Given the description of an element on the screen output the (x, y) to click on. 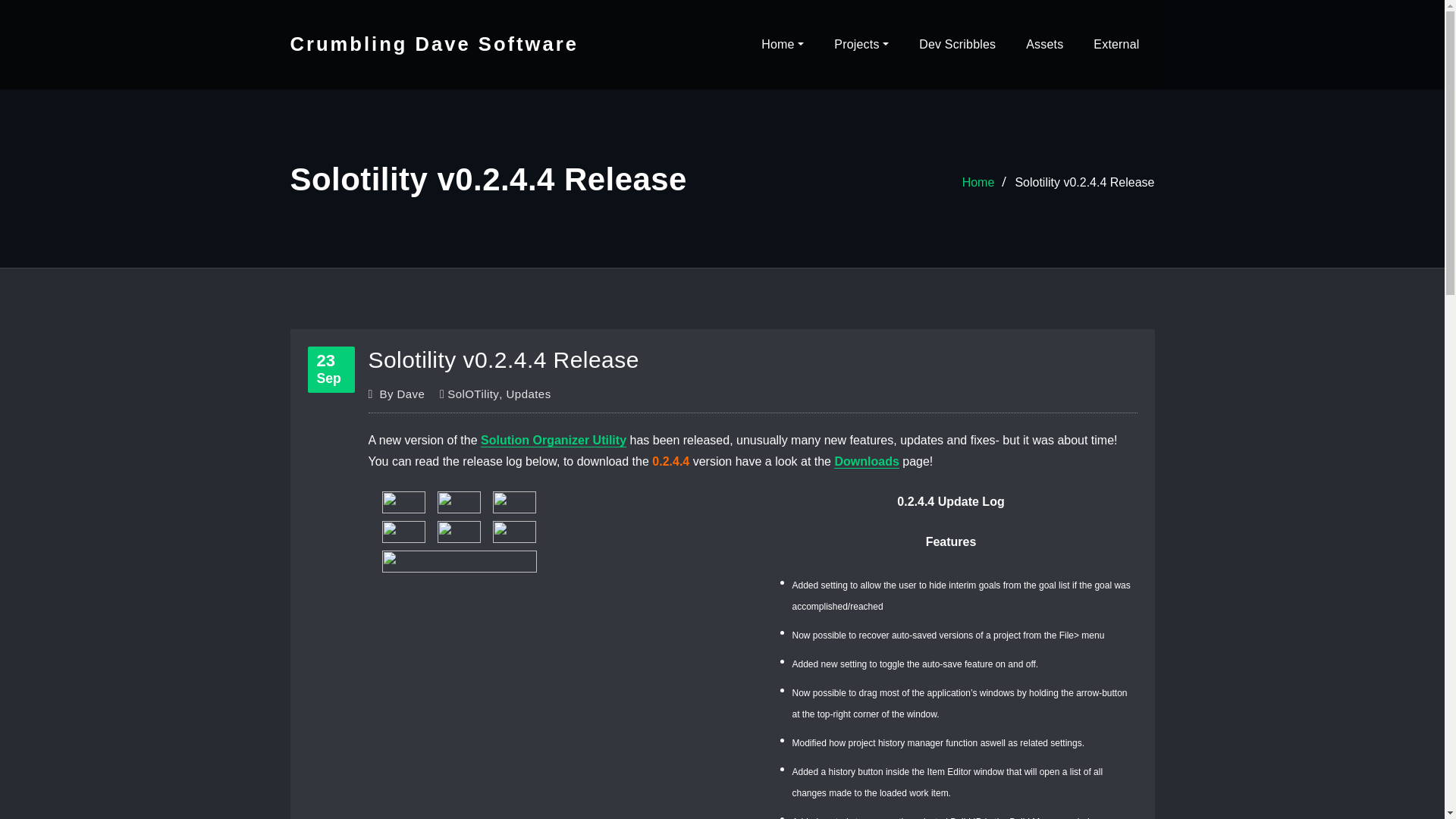
Home (978, 185)
Crumbling Dave Software (433, 43)
Solotility v0.2.4.4 Release (1084, 184)
Updates (528, 405)
Downloads (866, 463)
By Dave (401, 420)
Solution Organizer Utility (553, 445)
Projects (861, 44)
Dev Scribbles (957, 44)
SolOTility (472, 412)
